Given the description of an element on the screen output the (x, y) to click on. 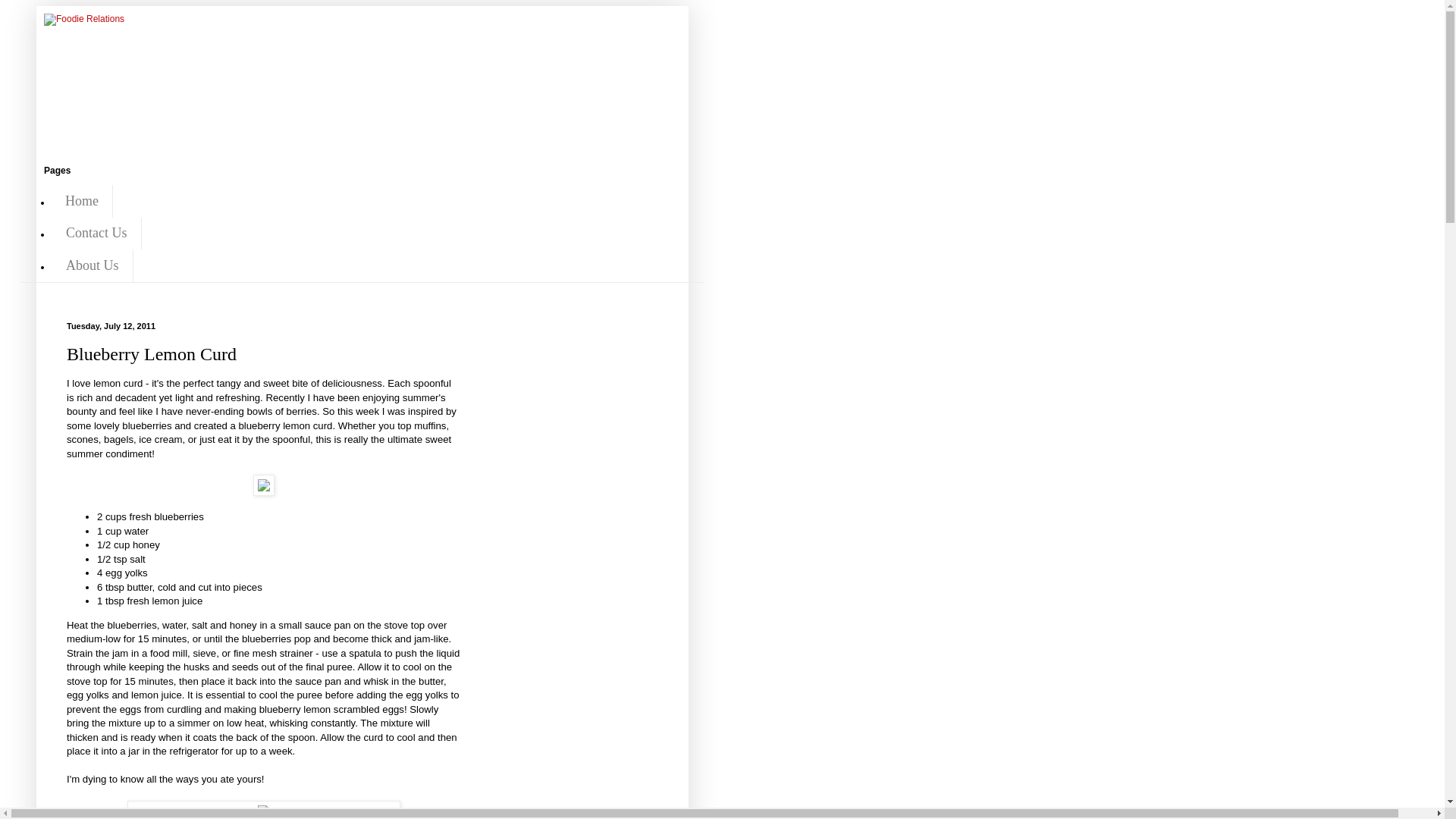
Contact Us (95, 233)
About Us (91, 265)
Home (81, 201)
